Given the description of an element on the screen output the (x, y) to click on. 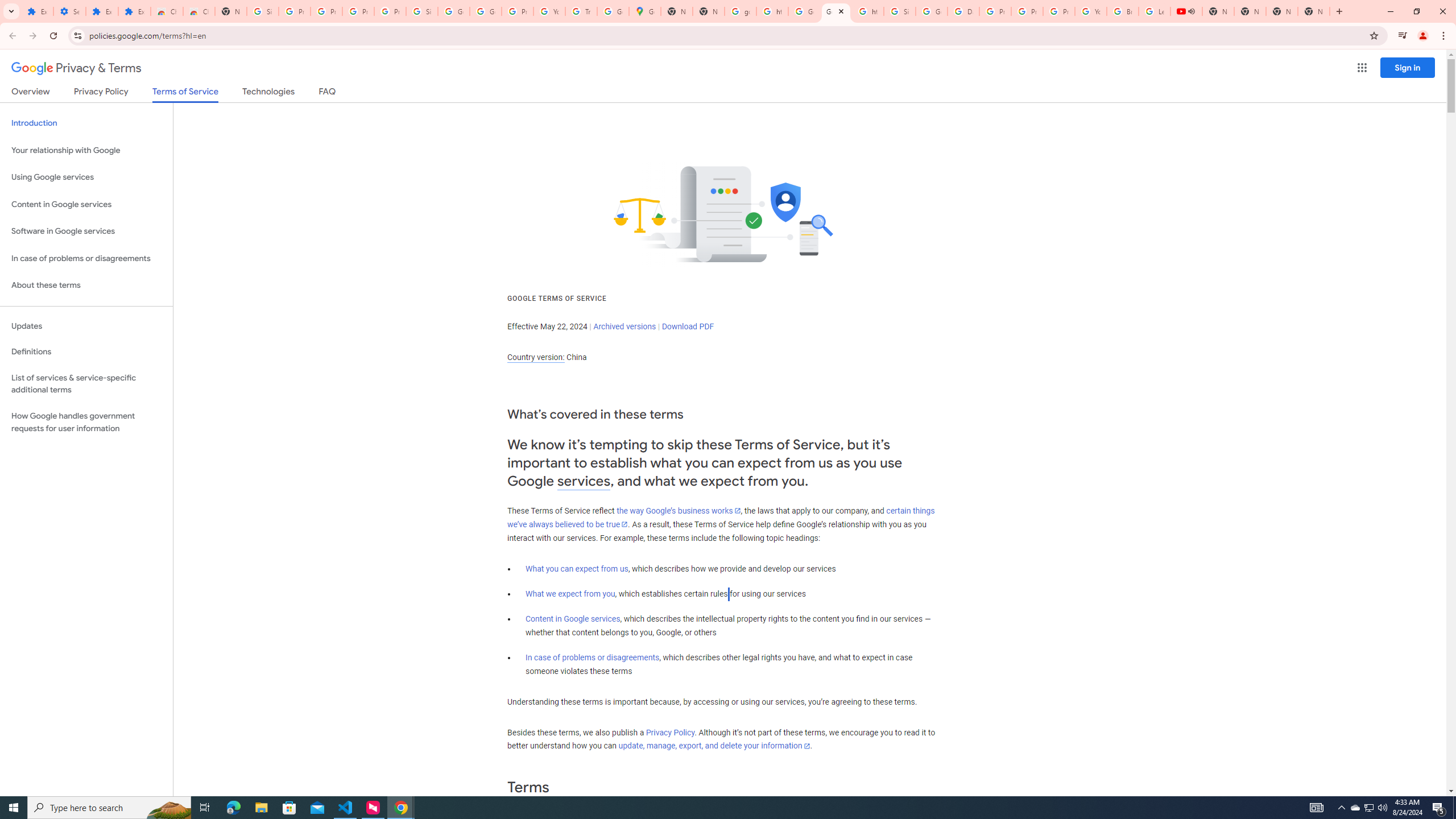
Extensions (37, 11)
Chrome Web Store (166, 11)
Overview (30, 93)
Privacy Help Center - Policies Help (995, 11)
Privacy Help Center - Policies Help (1027, 11)
In case of problems or disagreements (592, 657)
Archived versions (624, 326)
Content in Google services (572, 618)
Updates (86, 325)
New Tab (230, 11)
Your relationship with Google (86, 150)
